Given the description of an element on the screen output the (x, y) to click on. 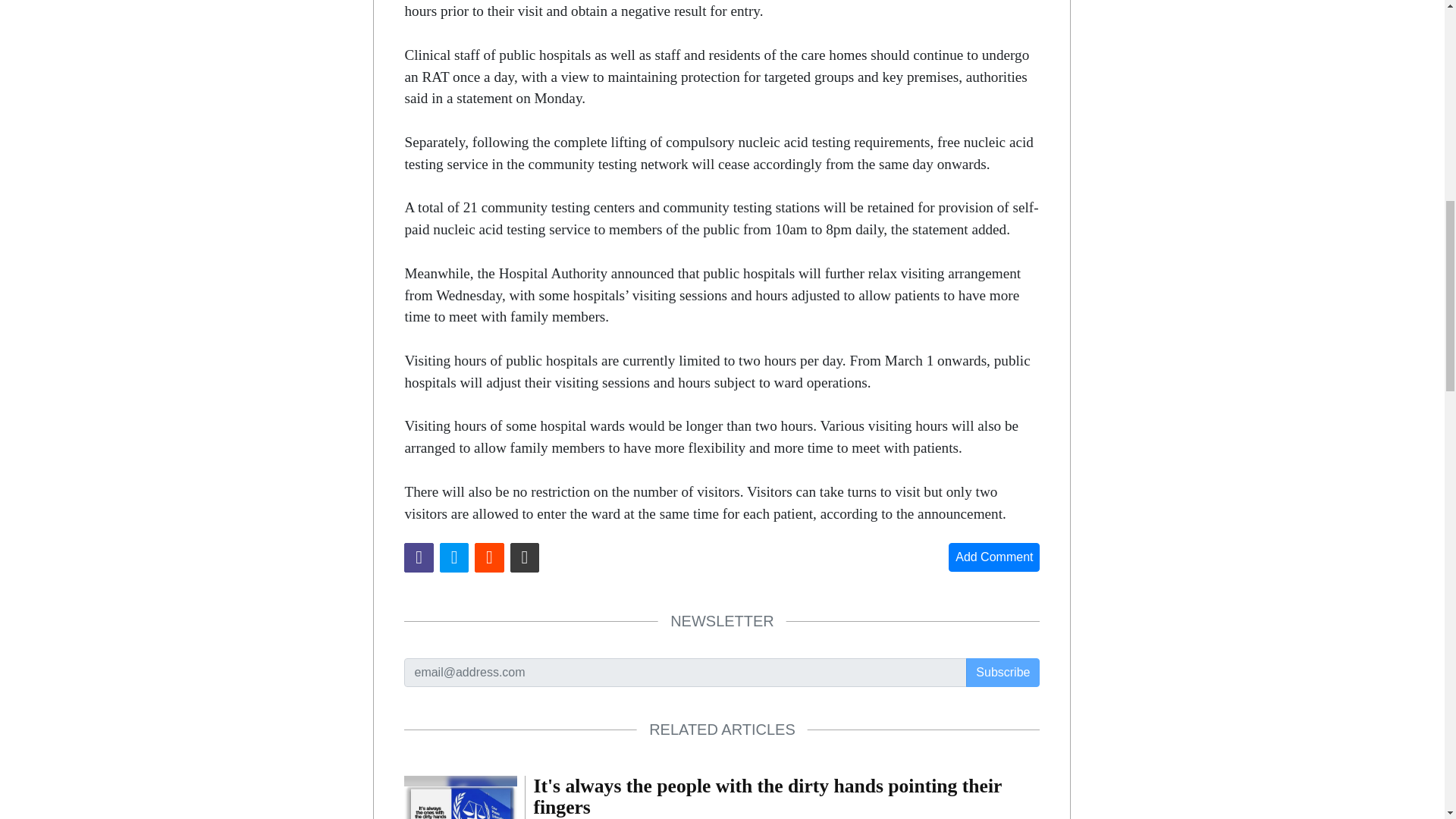
Subscribe (1002, 672)
Add Comment (994, 556)
